Given the description of an element on the screen output the (x, y) to click on. 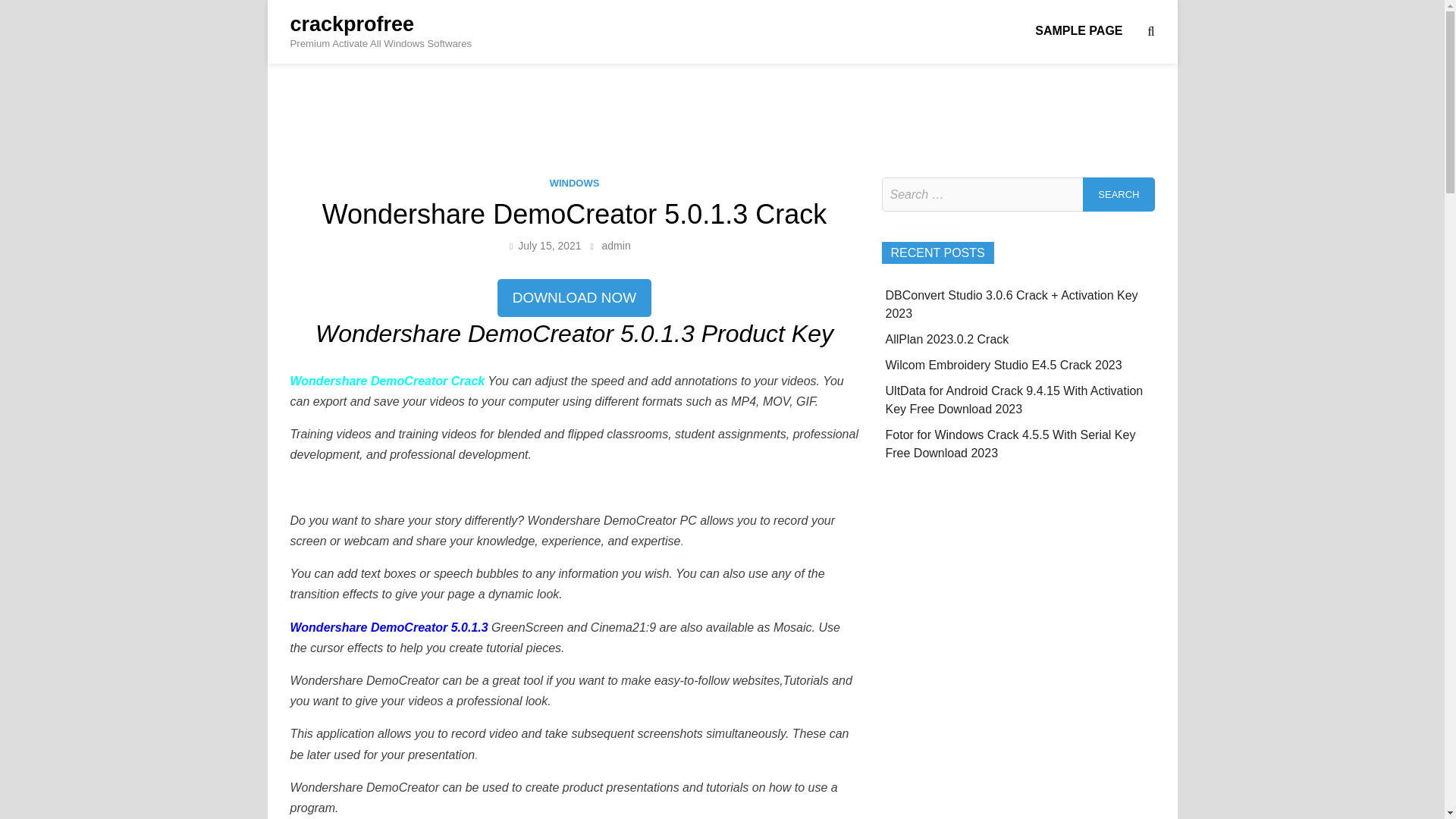
WINDOWS (574, 183)
Wilcom Embroidery Studio E4.5 Crack 2023 (1003, 364)
Search (1118, 194)
admin (616, 245)
Wondershare DemoCreator 5.0.1.3 (390, 626)
DOWNLOAD NOW (574, 297)
AllPlan 2023.0.2 Crack (947, 338)
Search (1118, 194)
SAMPLE PAGE (1078, 30)
